Given the description of an element on the screen output the (x, y) to click on. 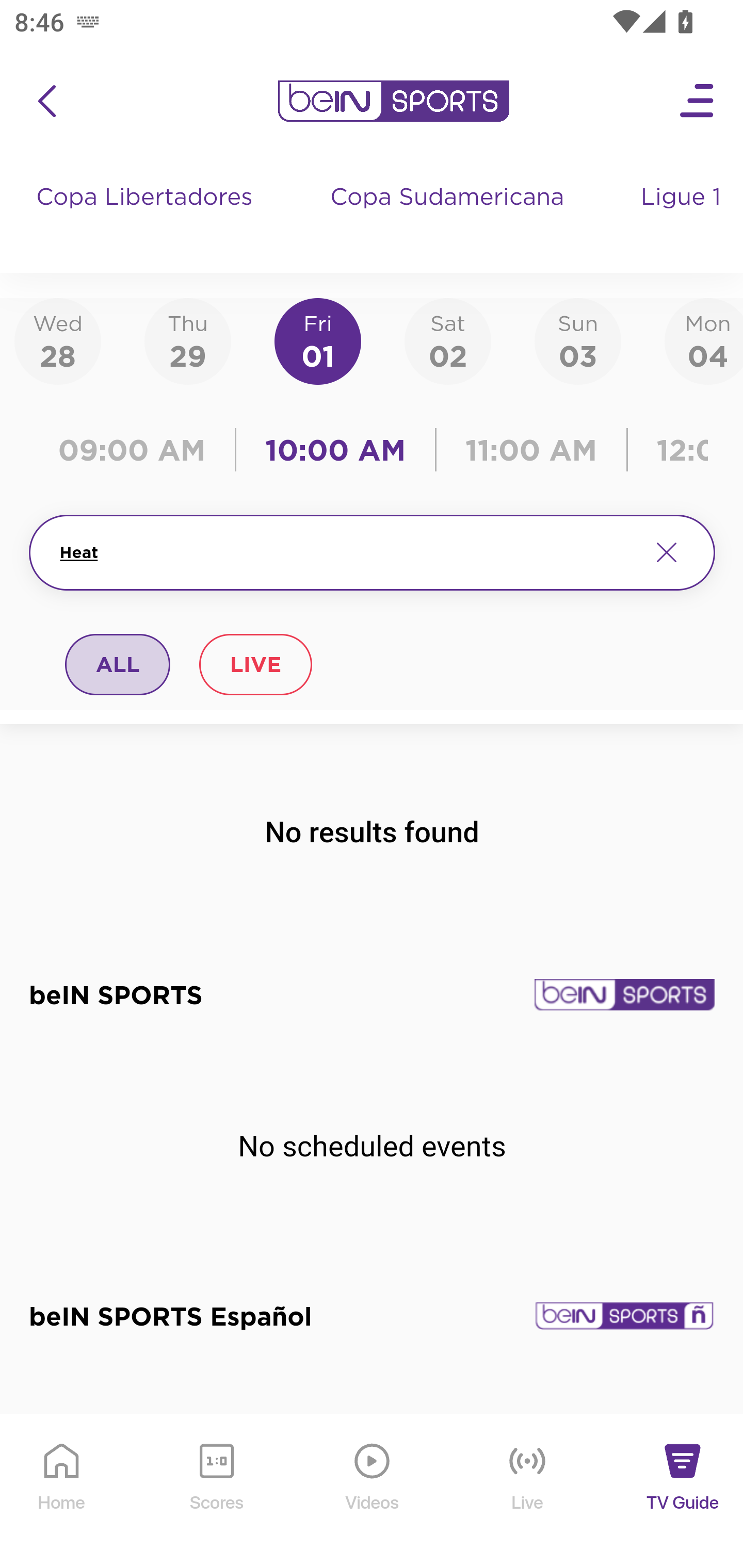
en-us?platform=mobile_android bein logo (392, 101)
icon back (46, 101)
Open Menu Icon (697, 101)
Copa Libertadores (146, 216)
Copa Sudamericana (448, 216)
Ligue 1 (682, 216)
Wed28 (58, 340)
Thu29 (187, 340)
Fri01 (318, 340)
Sat02 (447, 340)
Sun03 (578, 340)
Mon04 (703, 340)
09:00 AM (136, 449)
10:00 AM (335, 449)
11:00 AM (531, 449)
Heat (346, 552)
ALL (118, 663)
LIVE (255, 663)
Home Home Icon Home (61, 1491)
Scores Scores Icon Scores (216, 1491)
Videos Videos Icon Videos (372, 1491)
TV Guide TV Guide Icon TV Guide (682, 1491)
